Given the description of an element on the screen output the (x, y) to click on. 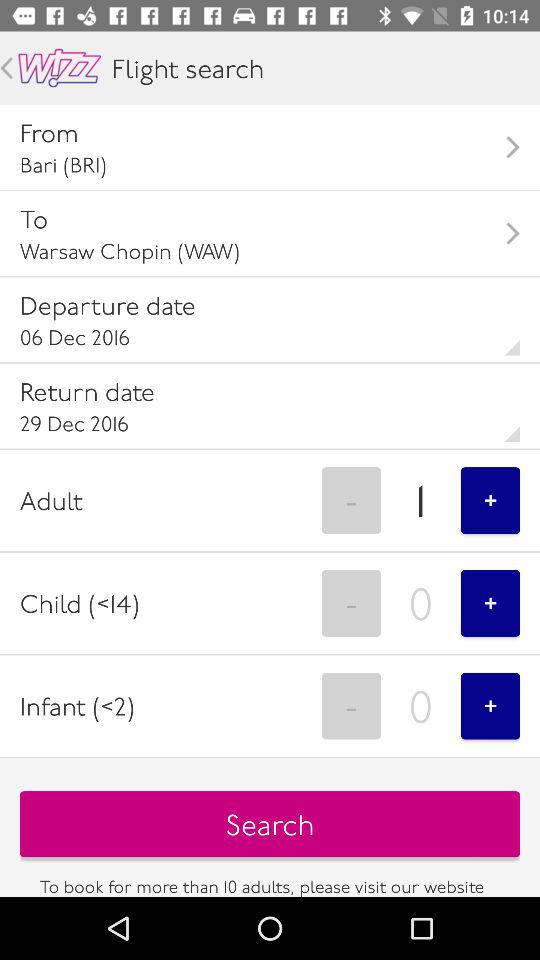
select - (351, 500)
